Given the description of an element on the screen output the (x, y) to click on. 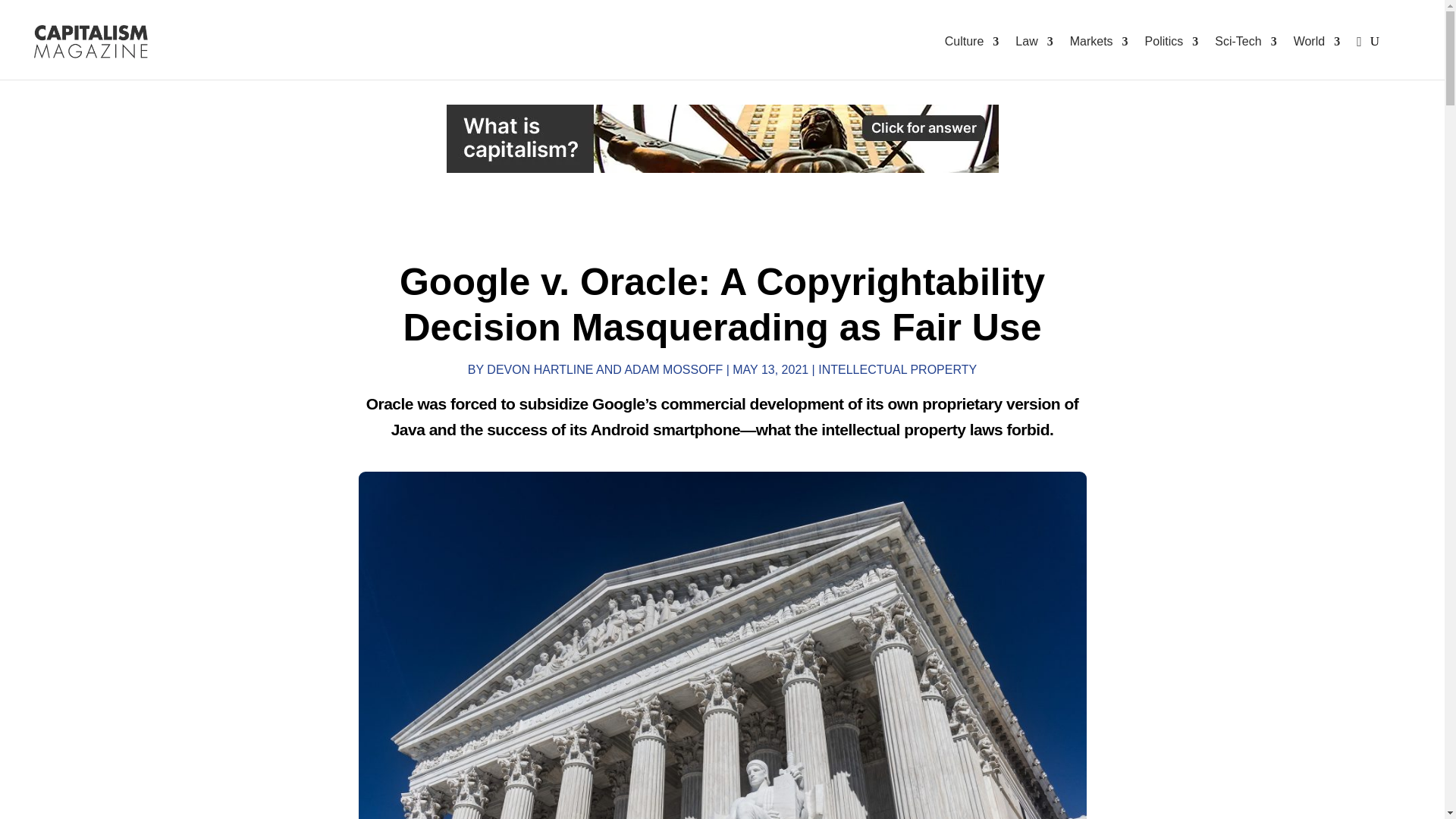
Markets (1099, 41)
Posts by Devon Hartline and Adam Mossoff (604, 369)
Capitalism Tour (721, 138)
Culture (971, 41)
